Given the description of an element on the screen output the (x, y) to click on. 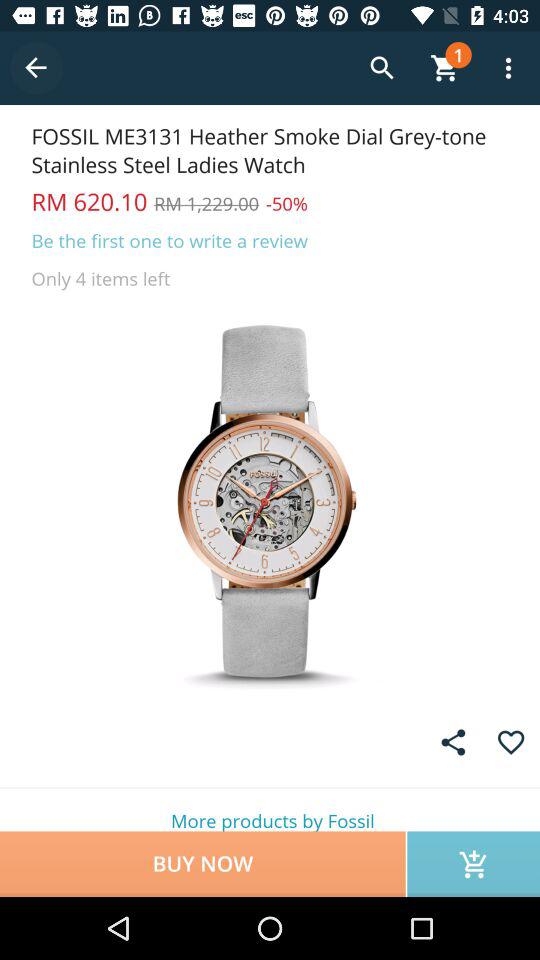
flip until buy now (202, 863)
